Given the description of an element on the screen output the (x, y) to click on. 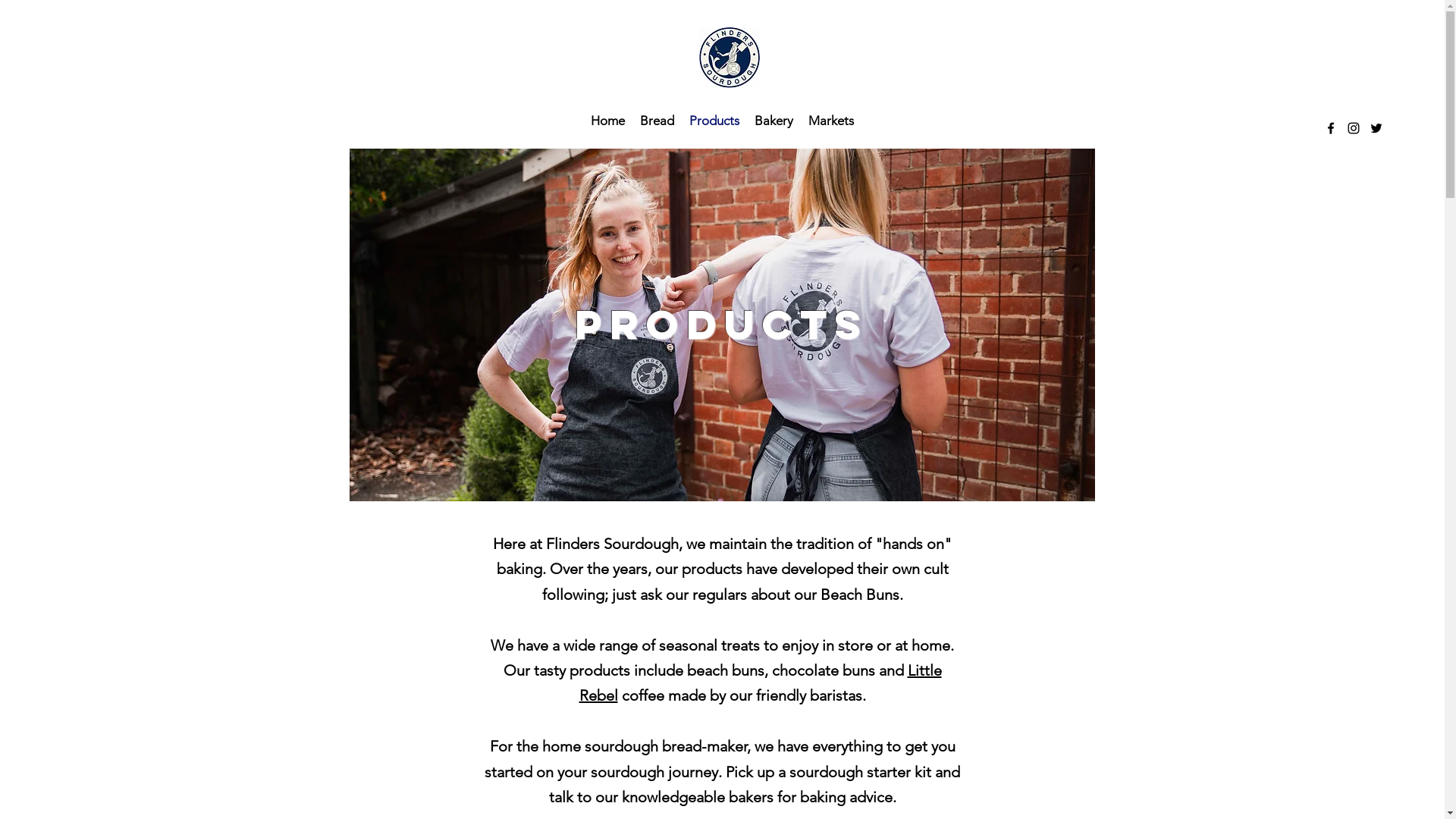
Home Element type: text (607, 120)
Bakery Element type: text (773, 120)
Products Element type: text (713, 120)
Markets Element type: text (830, 120)
Little Rebel Element type: text (760, 682)
Bread Element type: text (656, 120)
